Given the description of an element on the screen output the (x, y) to click on. 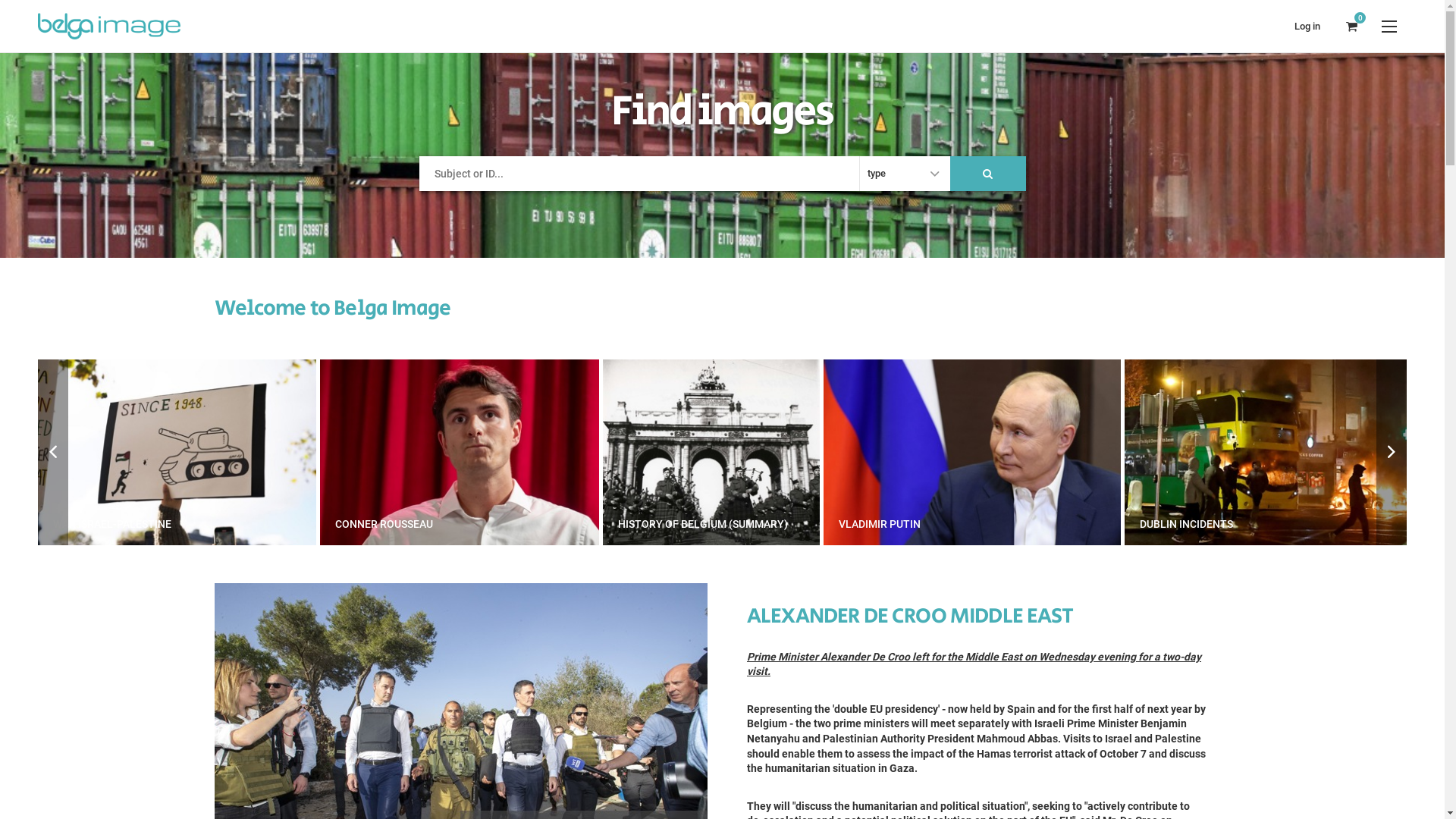
VLADIMIR PUTIN Element type: text (1254, 452)
CONNER ROUSSEAU Element type: text (741, 452)
Next Element type: text (1391, 452)
Log in Element type: text (1307, 26)
To the homepage Element type: hover (114, 26)
WAR ISRAEL-PALESTINE Element type: text (459, 452)
BLOOD DONATION Element type: text (176, 452)
HISTORY OF BELGIUM (SUMMARY) Element type: text (993, 452)
0 Element type: text (1351, 26)
Previous Element type: text (52, 452)
